Given the description of an element on the screen output the (x, y) to click on. 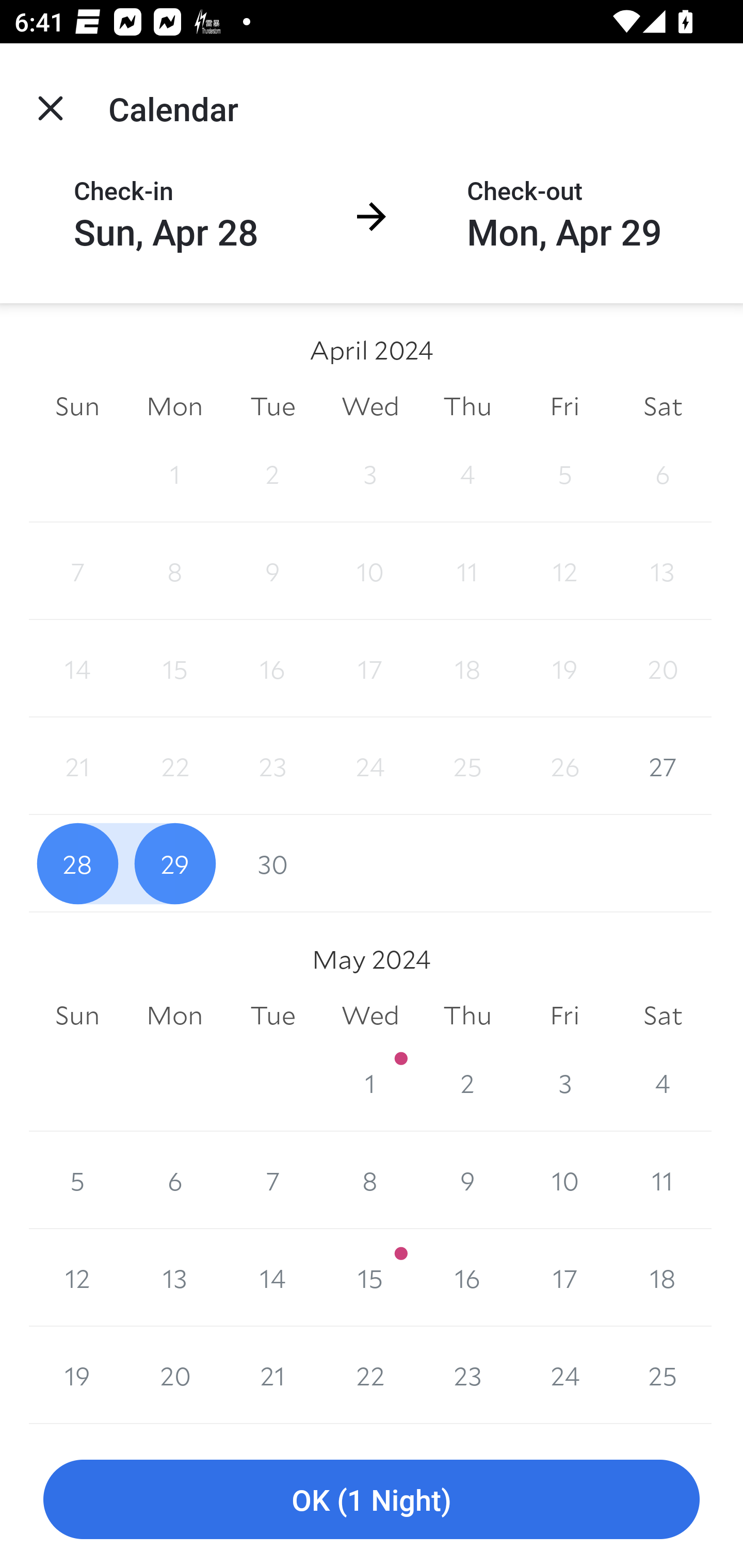
Sun (77, 405)
Mon (174, 405)
Tue (272, 405)
Wed (370, 405)
Thu (467, 405)
Fri (564, 405)
Sat (662, 405)
1 1 April 2024 (174, 473)
2 2 April 2024 (272, 473)
3 3 April 2024 (370, 473)
4 4 April 2024 (467, 473)
5 5 April 2024 (564, 473)
6 6 April 2024 (662, 473)
7 7 April 2024 (77, 570)
8 8 April 2024 (174, 570)
9 9 April 2024 (272, 570)
10 10 April 2024 (370, 570)
11 11 April 2024 (467, 570)
12 12 April 2024 (564, 570)
13 13 April 2024 (662, 570)
14 14 April 2024 (77, 668)
15 15 April 2024 (174, 668)
16 16 April 2024 (272, 668)
17 17 April 2024 (370, 668)
18 18 April 2024 (467, 668)
19 19 April 2024 (564, 668)
20 20 April 2024 (662, 668)
21 21 April 2024 (77, 766)
22 22 April 2024 (174, 766)
23 23 April 2024 (272, 766)
24 24 April 2024 (370, 766)
25 25 April 2024 (467, 766)
26 26 April 2024 (564, 766)
27 27 April 2024 (662, 766)
28 28 April 2024 (77, 863)
29 29 April 2024 (174, 863)
30 30 April 2024 (272, 863)
Sun (77, 1015)
Mon (174, 1015)
Tue (272, 1015)
Wed (370, 1015)
Thu (467, 1015)
Fri (564, 1015)
Sat (662, 1015)
1 1 May 2024 (370, 1083)
2 2 May 2024 (467, 1083)
3 3 May 2024 (564, 1083)
4 4 May 2024 (662, 1083)
5 5 May 2024 (77, 1180)
